Given the description of an element on the screen output the (x, y) to click on. 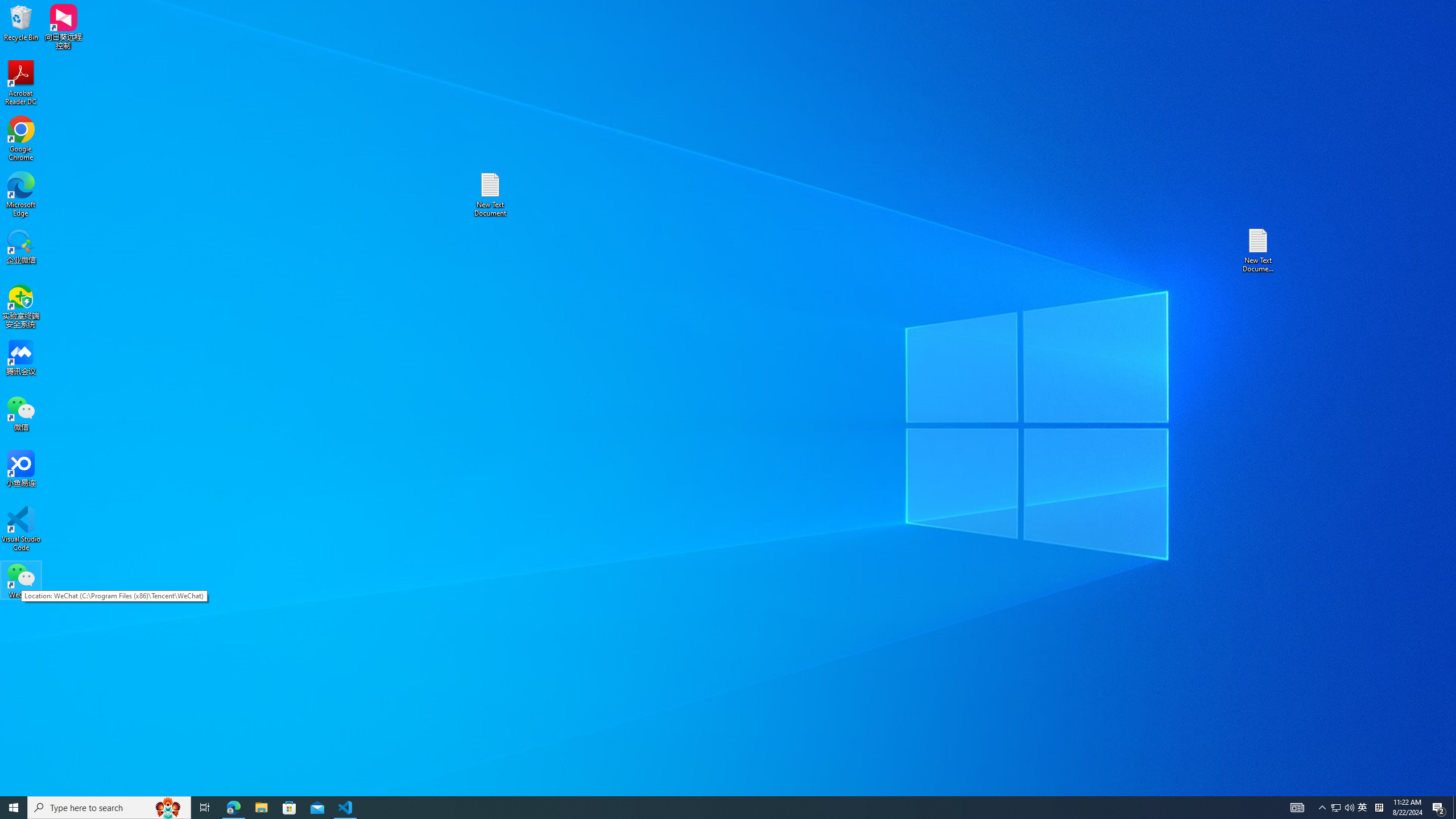
Running applications (707, 807)
Task View (204, 807)
Microsoft Edge - 1 running window (233, 807)
